Given the description of an element on the screen output the (x, y) to click on. 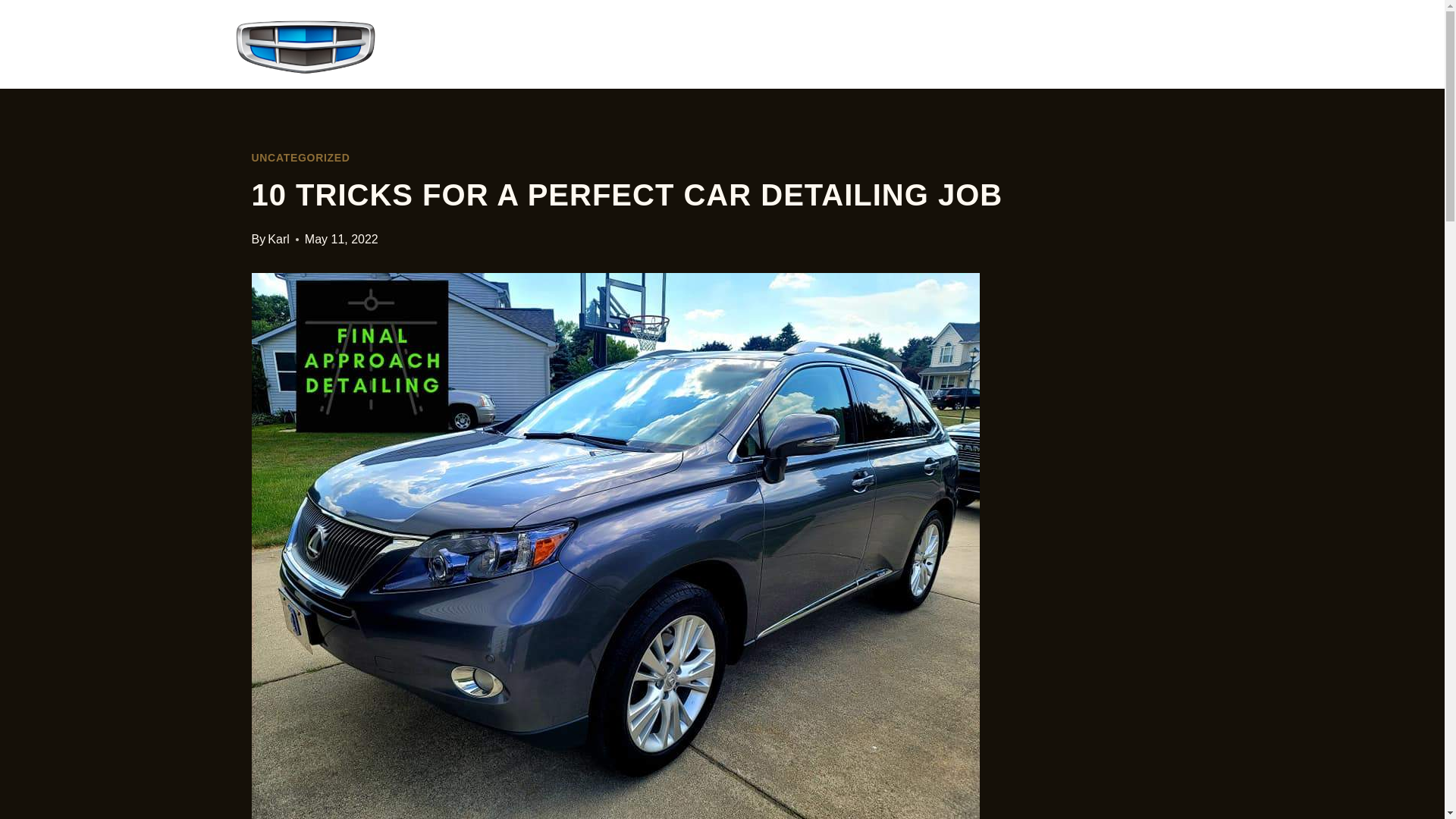
HOME (966, 43)
Xtream Auto Shop (450, 46)
UNCATEGORIZED (300, 157)
ABOUT (1067, 43)
Karl (277, 238)
BLOG (1166, 43)
